Given the description of an element on the screen output the (x, y) to click on. 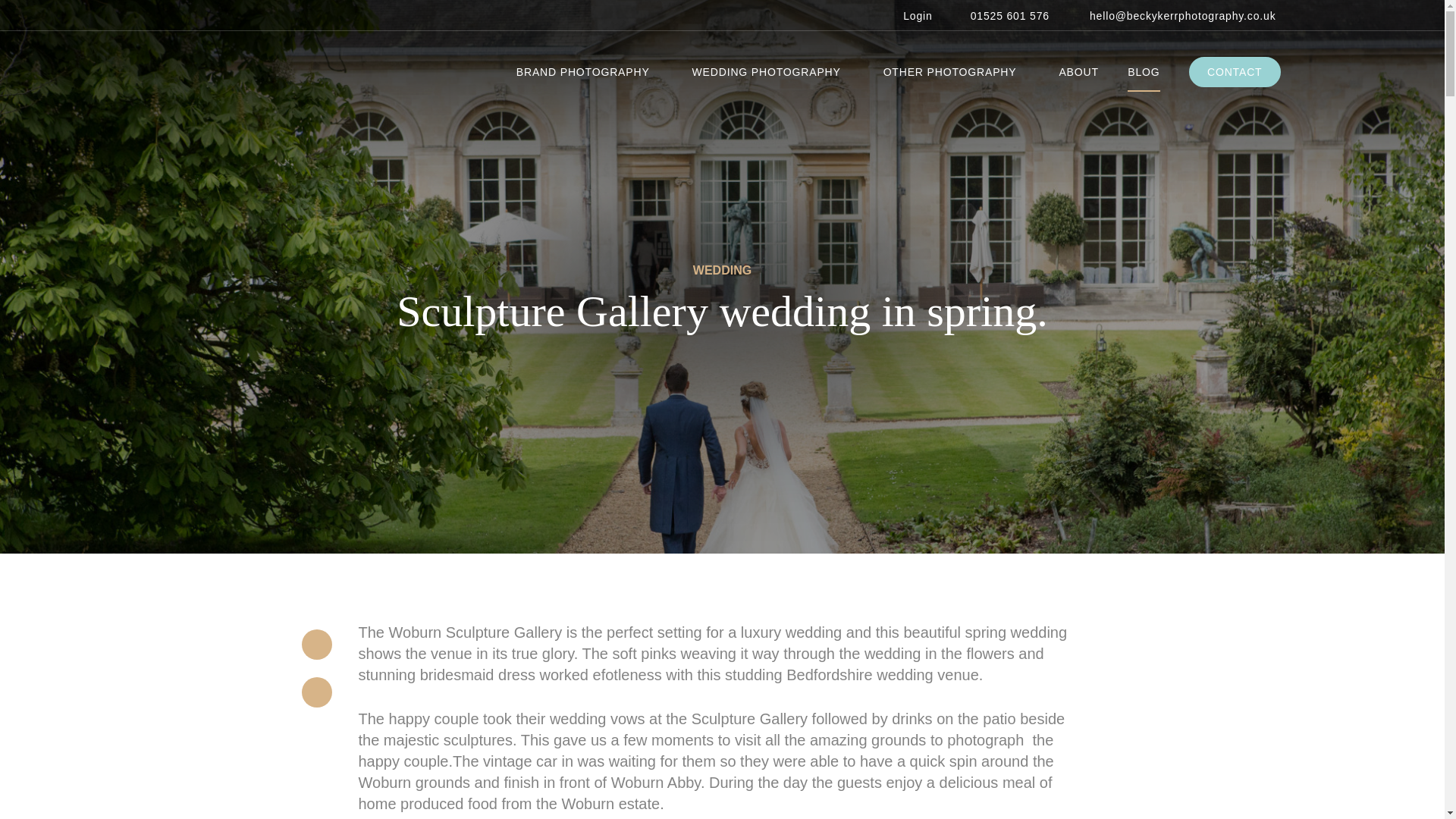
01525 601 576 (1002, 15)
CONTACT (1235, 71)
ABOUT (1077, 72)
Login (909, 15)
WEDDING (722, 269)
